Given the description of an element on the screen output the (x, y) to click on. 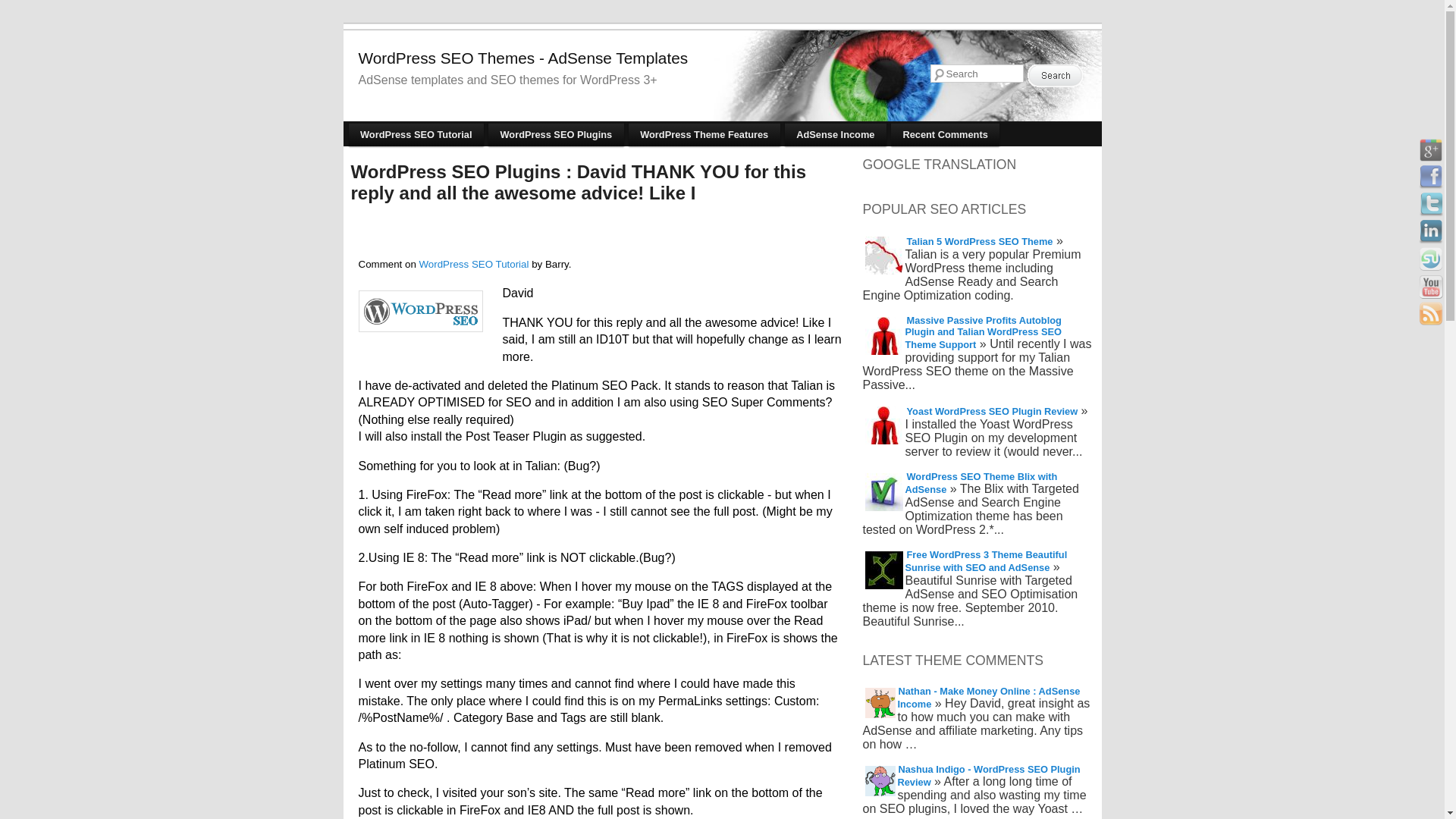
Talian 5 WordPress SEO Theme (978, 241)
WordPress SEO Theme Blix with AdSense (981, 482)
Talian 5 WordPress SEO Theme (978, 241)
Yoast WordPress SEO Plugin Review (991, 411)
Nashua Indigo - WordPress SEO Plugin Review (989, 775)
WordPress SEO Themes - AdSense Templates (522, 57)
Nathan - Make Money Online : AdSense Income (989, 697)
WordPress SEO Tutorial (474, 264)
WordPress SEO Theme Blix with AdSense (981, 482)
Yoast WordPress SEO Plugin Review (991, 411)
